Given the description of an element on the screen output the (x, y) to click on. 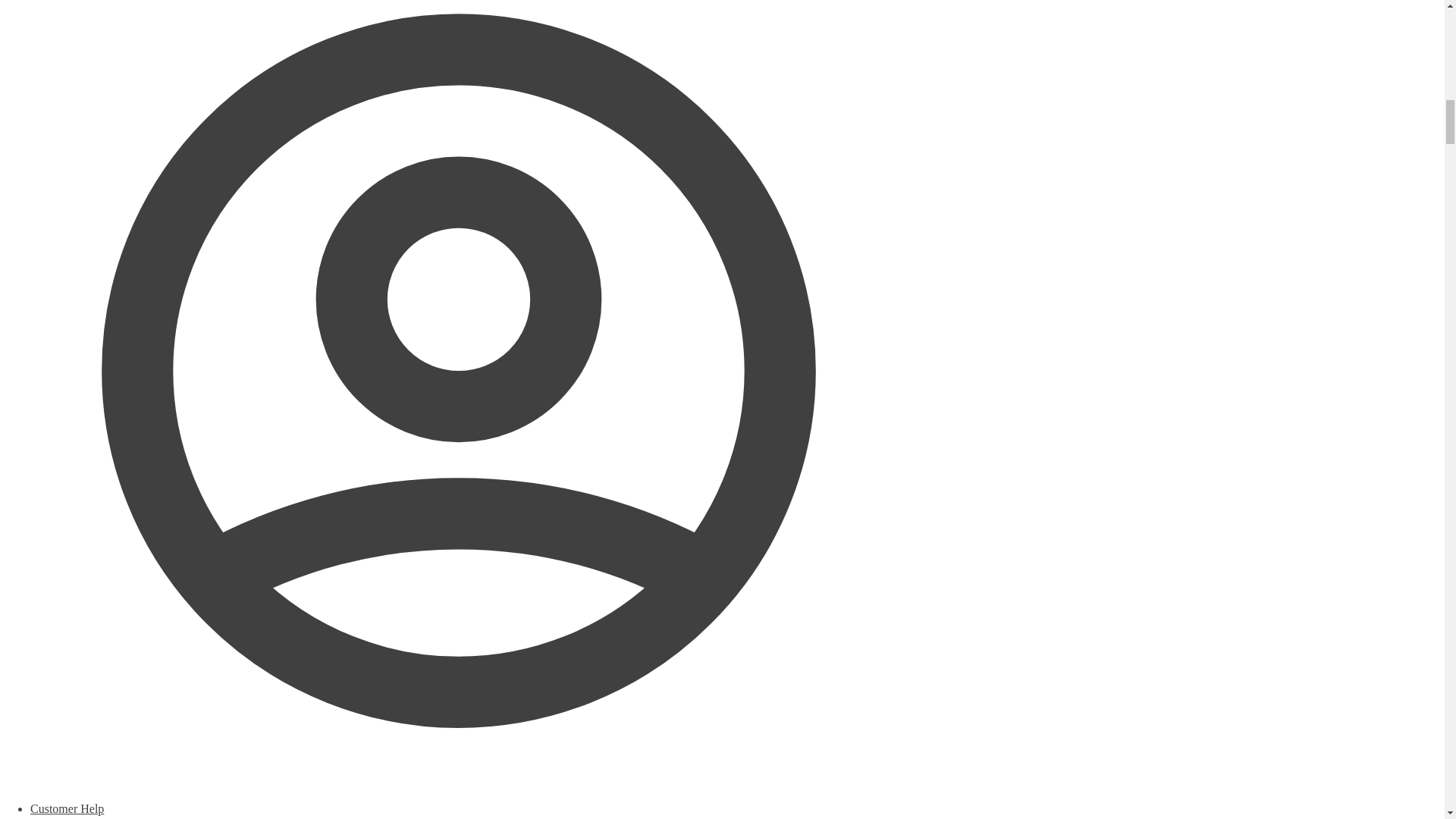
Customer Help (458, 810)
